Given the description of an element on the screen output the (x, y) to click on. 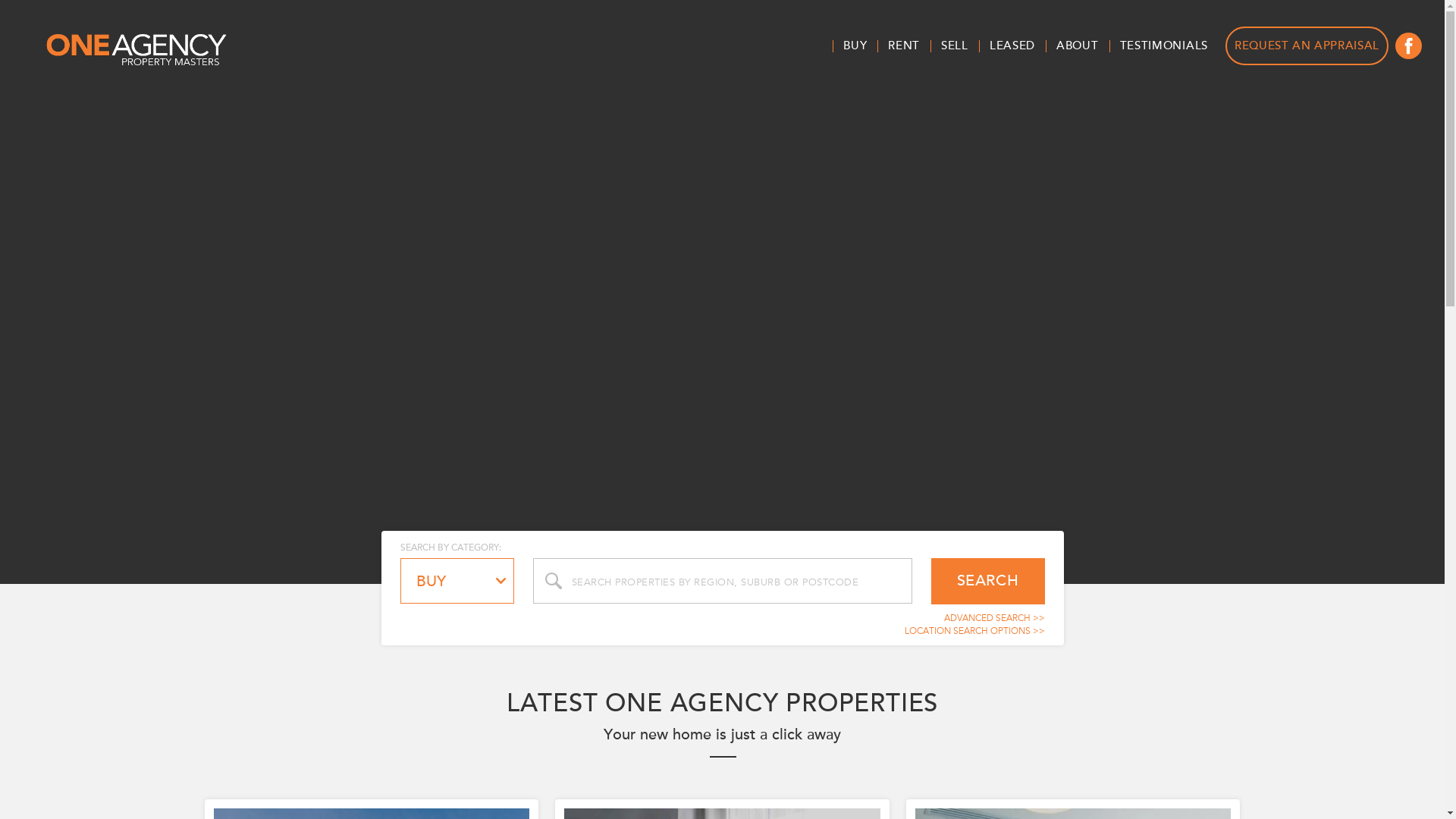
ABOUT Element type: text (1077, 45)
ADVANCED SEARCH >> Element type: text (993, 617)
LEASED Element type: text (1012, 45)
LOCATION SEARCH OPTIONS >> Element type: text (973, 630)
RENT Element type: text (903, 45)
TESTIMONIALS Element type: text (1163, 45)
BUY Element type: text (854, 45)
REQUEST AN APPRAISAL Element type: text (1306, 45)
SEARCH Element type: text (987, 581)
BUY Element type: text (457, 580)
SELL Element type: text (954, 45)
